Given the description of an element on the screen output the (x, y) to click on. 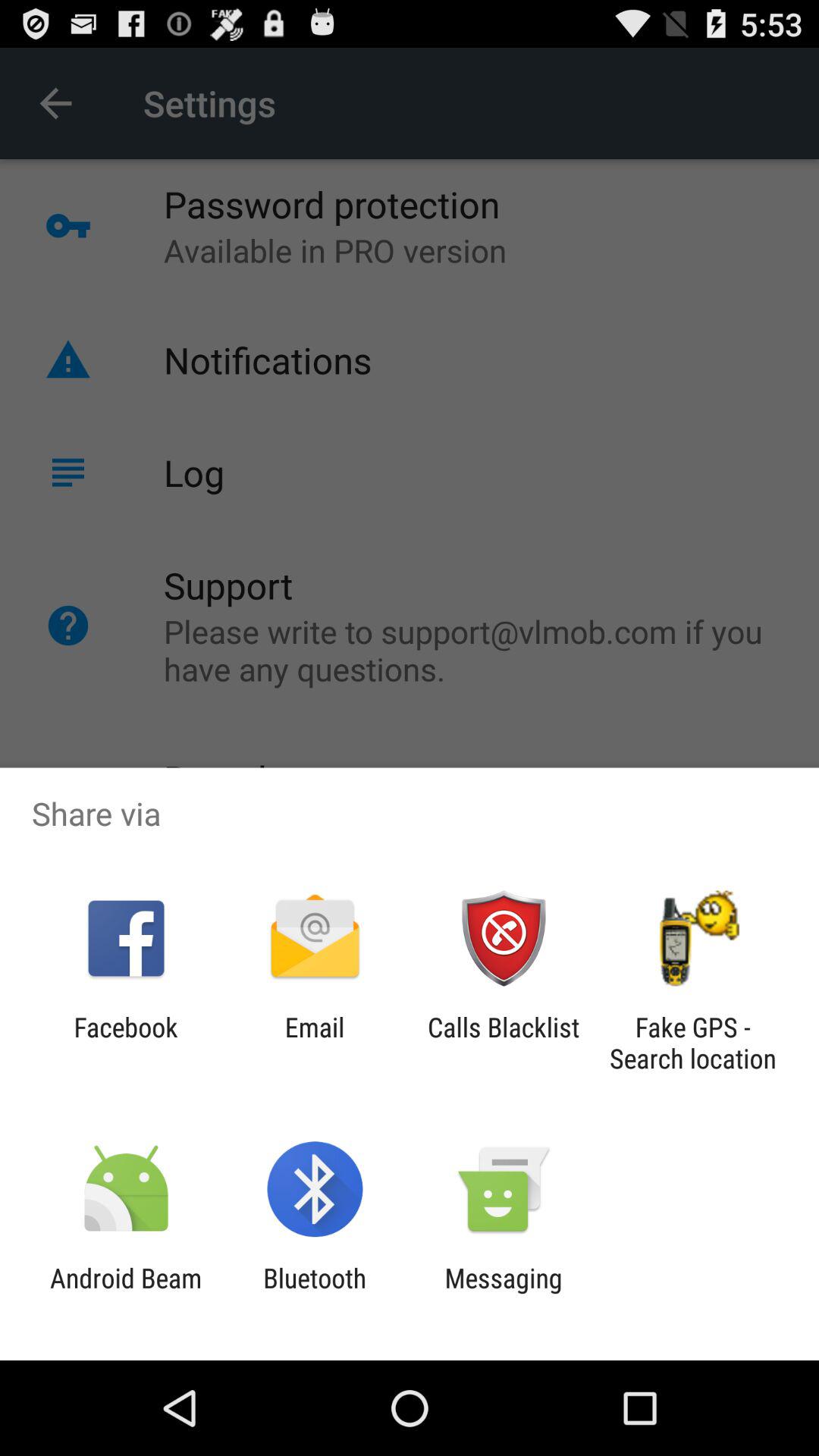
choose icon to the left of email item (125, 1042)
